Given the description of an element on the screen output the (x, y) to click on. 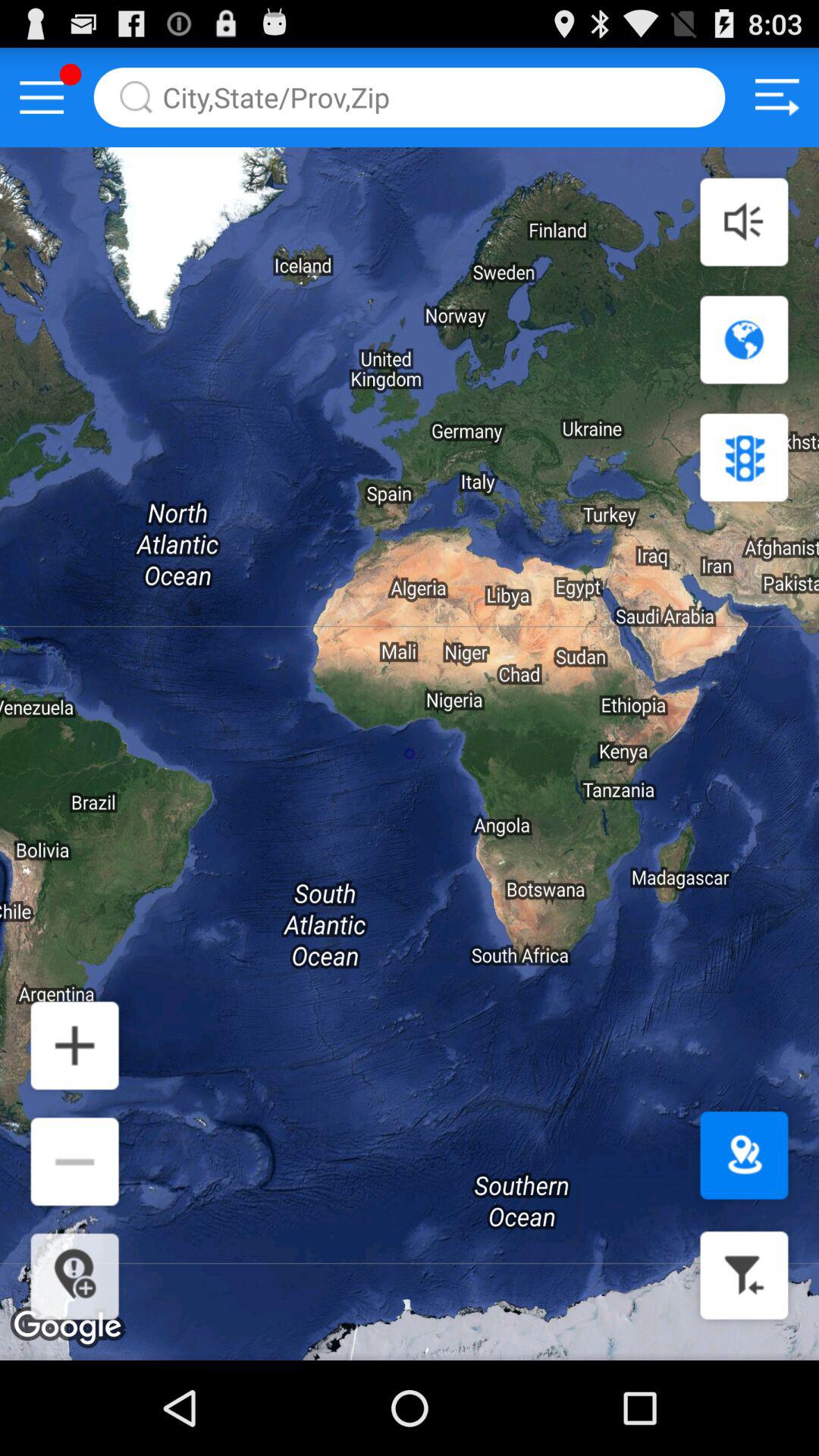
stops (744, 457)
